Given the description of an element on the screen output the (x, y) to click on. 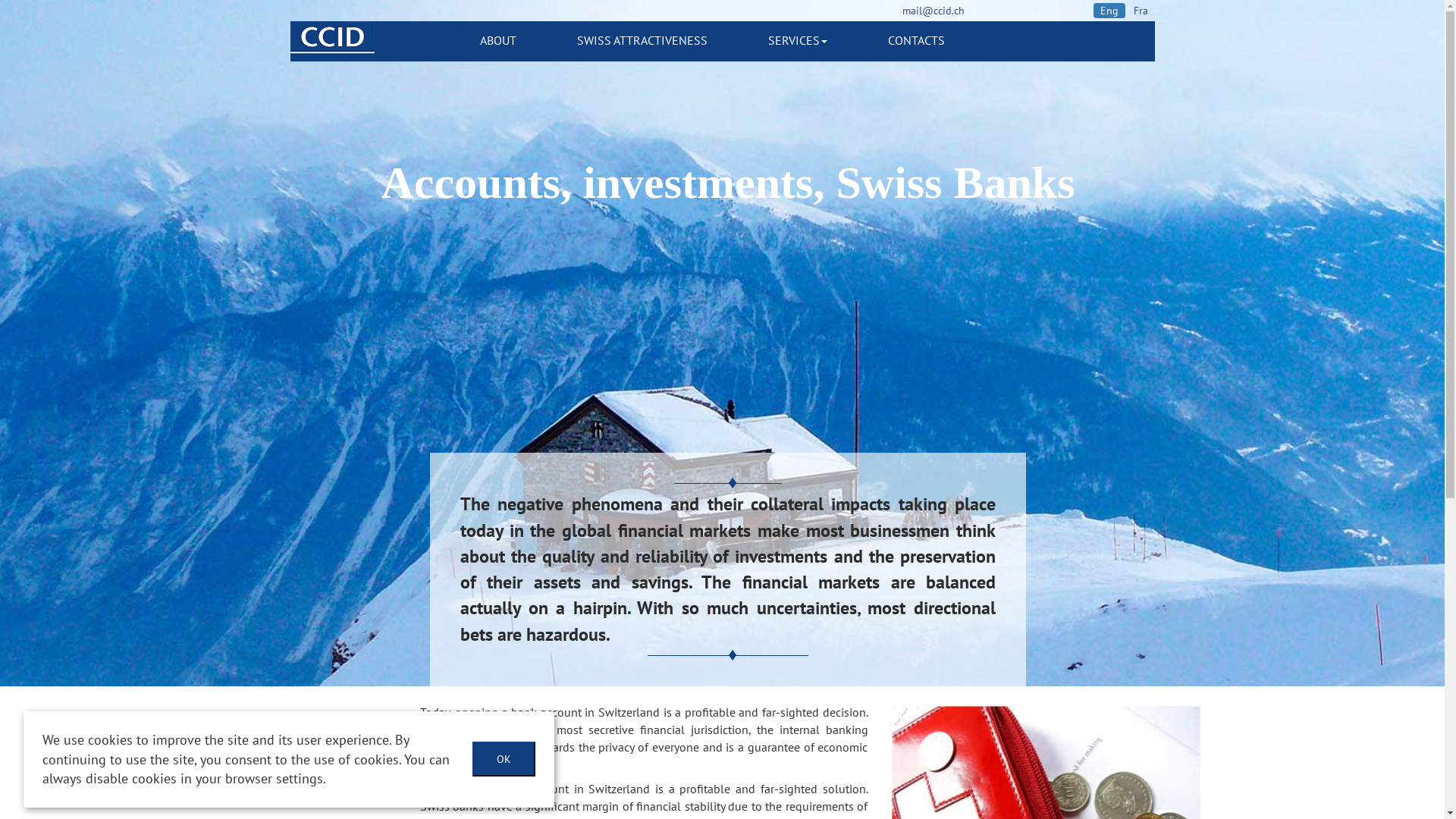
OK Element type: text (503, 758)
Fra Element type: text (1140, 10)
CCID Element type: hover (331, 41)
Eng Element type: text (1109, 10)
CONTACTS Element type: text (916, 41)
SERVICES Element type: text (797, 41)
SWISS ATTRACTIVENESS Element type: text (641, 41)
ABOUT Element type: text (497, 41)
mail@ccid.ch Element type: text (933, 10)
